Given the description of an element on the screen output the (x, y) to click on. 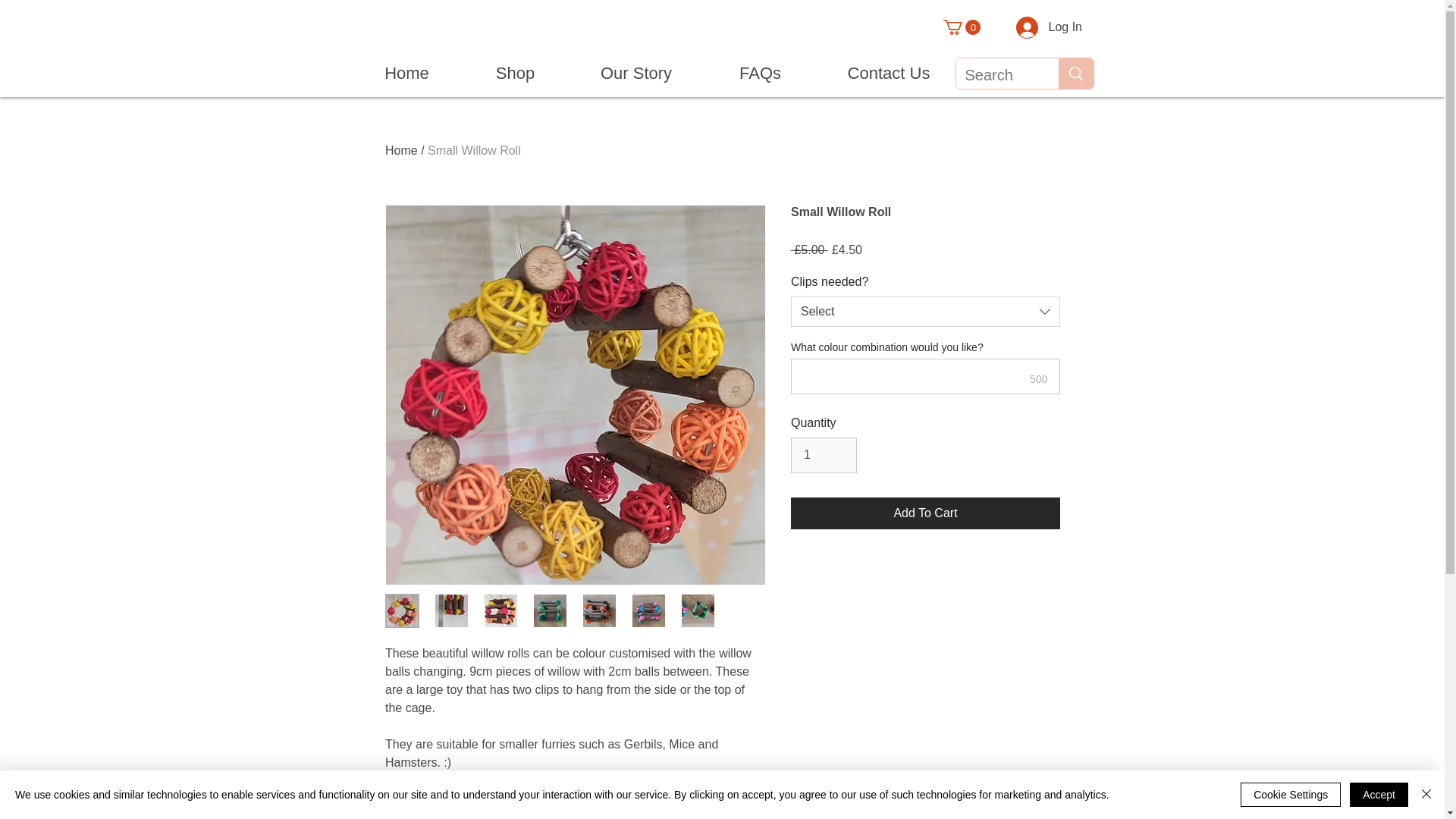
Small Willow Roll (474, 150)
Select (924, 311)
Home (406, 73)
Add To Cart (924, 513)
Our Story (635, 73)
FAQs (759, 73)
1 (823, 454)
0 (961, 27)
0 (961, 27)
Home (401, 150)
Cookie Settings (1290, 794)
Accept (1378, 794)
Contact Us (888, 73)
Shop (515, 73)
Log In (1040, 27)
